Given the description of an element on the screen output the (x, y) to click on. 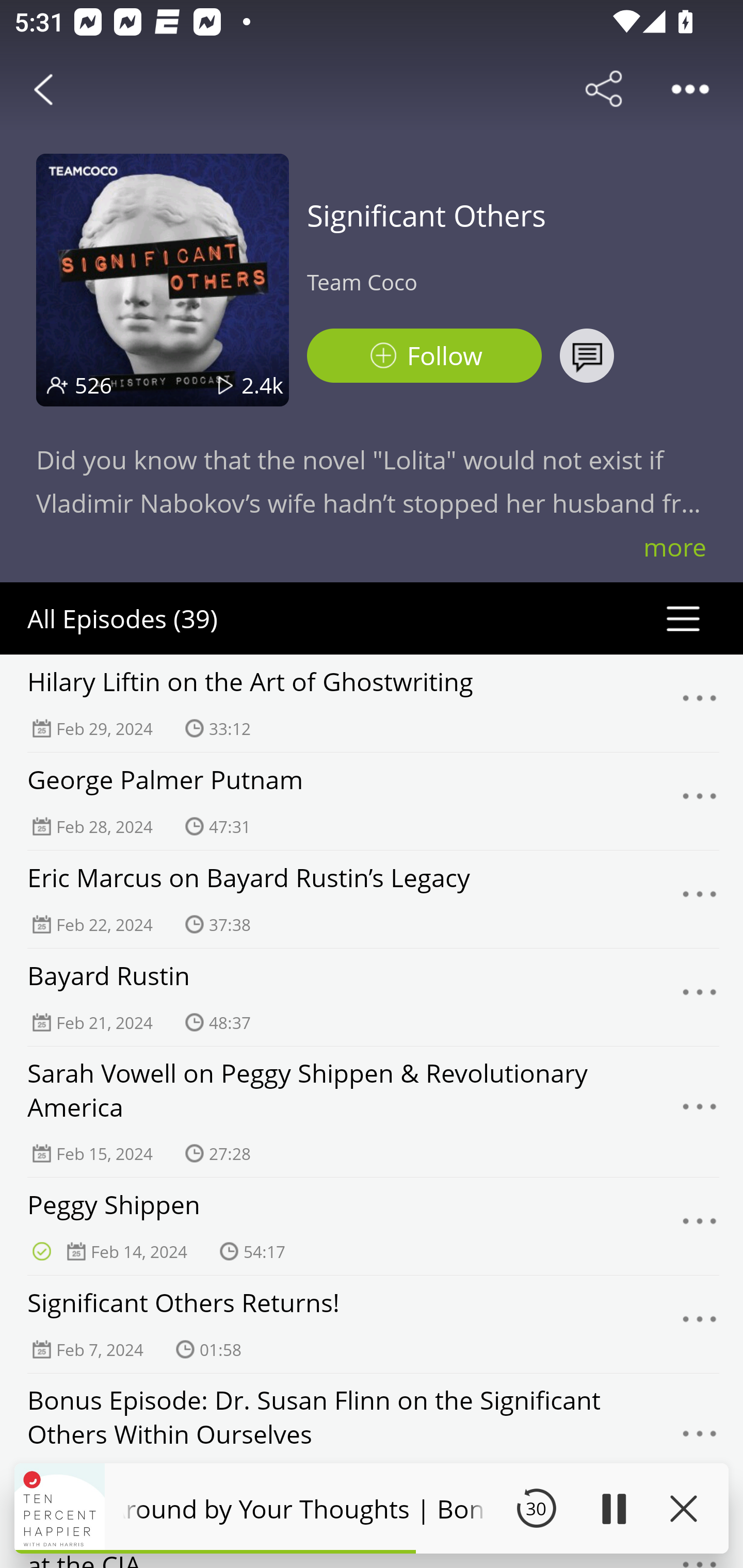
Back (43, 88)
Podbean Follow (423, 355)
526 (93, 384)
more (674, 546)
Menu (699, 703)
George Palmer Putnam Feb 28, 2024 47:31 Menu (371, 800)
Menu (699, 801)
Menu (699, 899)
Bayard Rustin Feb 21, 2024 48:37 Menu (371, 996)
Menu (699, 997)
Menu (699, 1112)
Peggy Shippen Feb 14, 2024 54:17 Menu (371, 1225)
Menu (699, 1226)
Significant Others Returns! Feb 7, 2024 01:58 Menu (371, 1323)
Menu (699, 1324)
Menu (699, 1438)
Play (613, 1507)
30 Seek Backward (536, 1508)
